Given the description of an element on the screen output the (x, y) to click on. 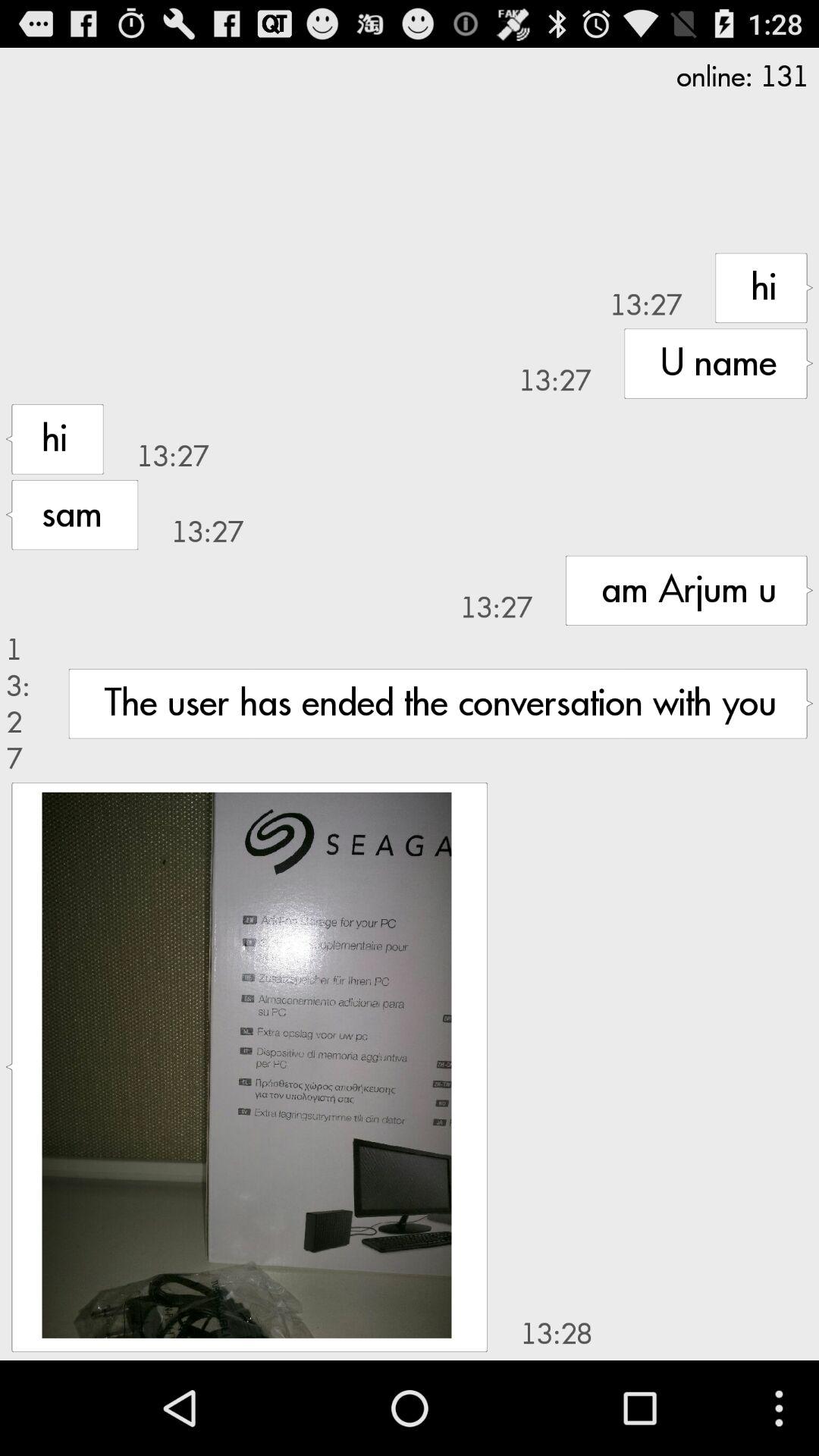
messaged picture (246, 1065)
